Given the description of an element on the screen output the (x, y) to click on. 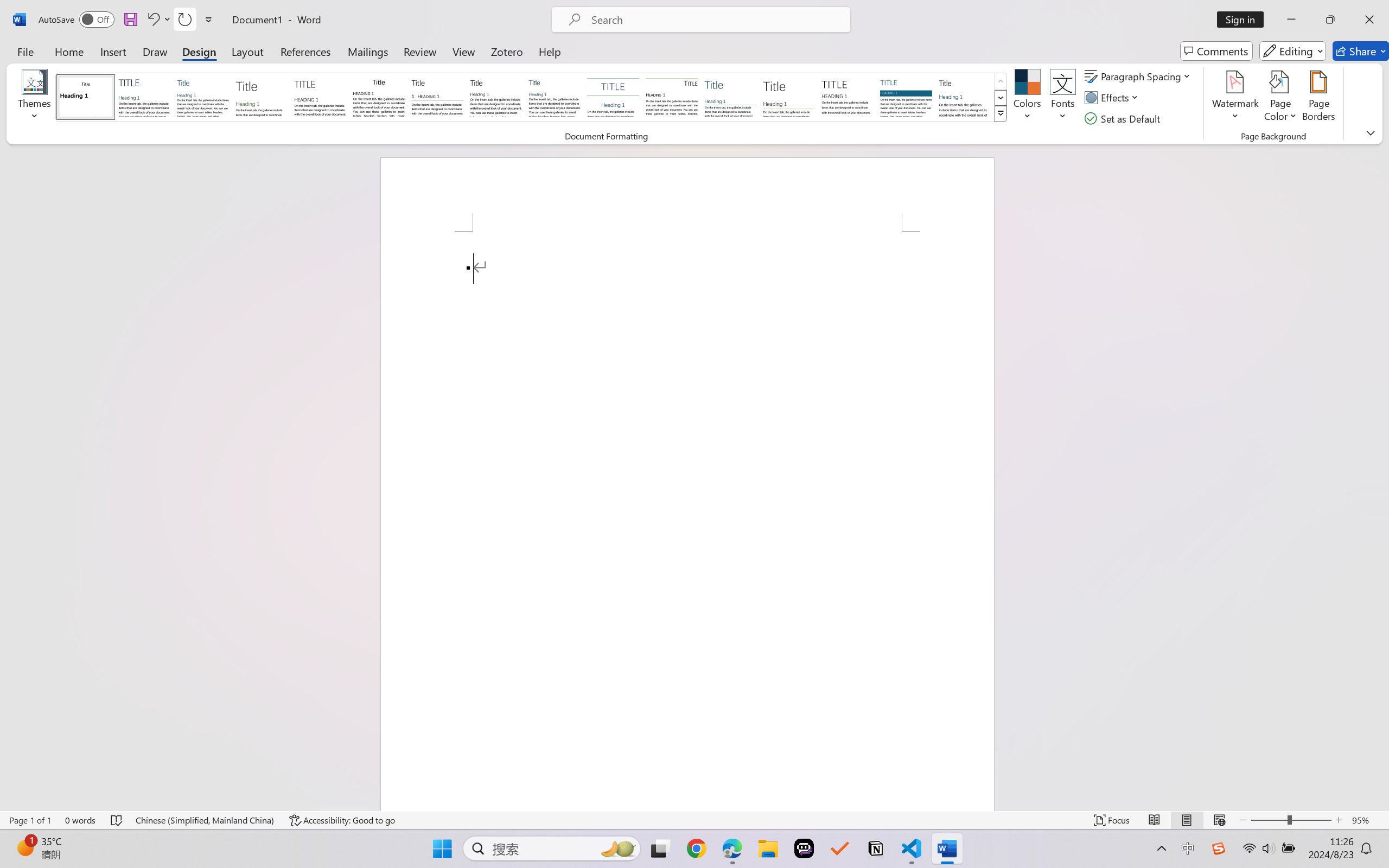
Black & White (Classic) (379, 96)
Black & White (Word 2013) (495, 96)
Style Set (1000, 113)
Lines (Simple) (730, 96)
Lines (Stylish) (788, 96)
